Given the description of an element on the screen output the (x, y) to click on. 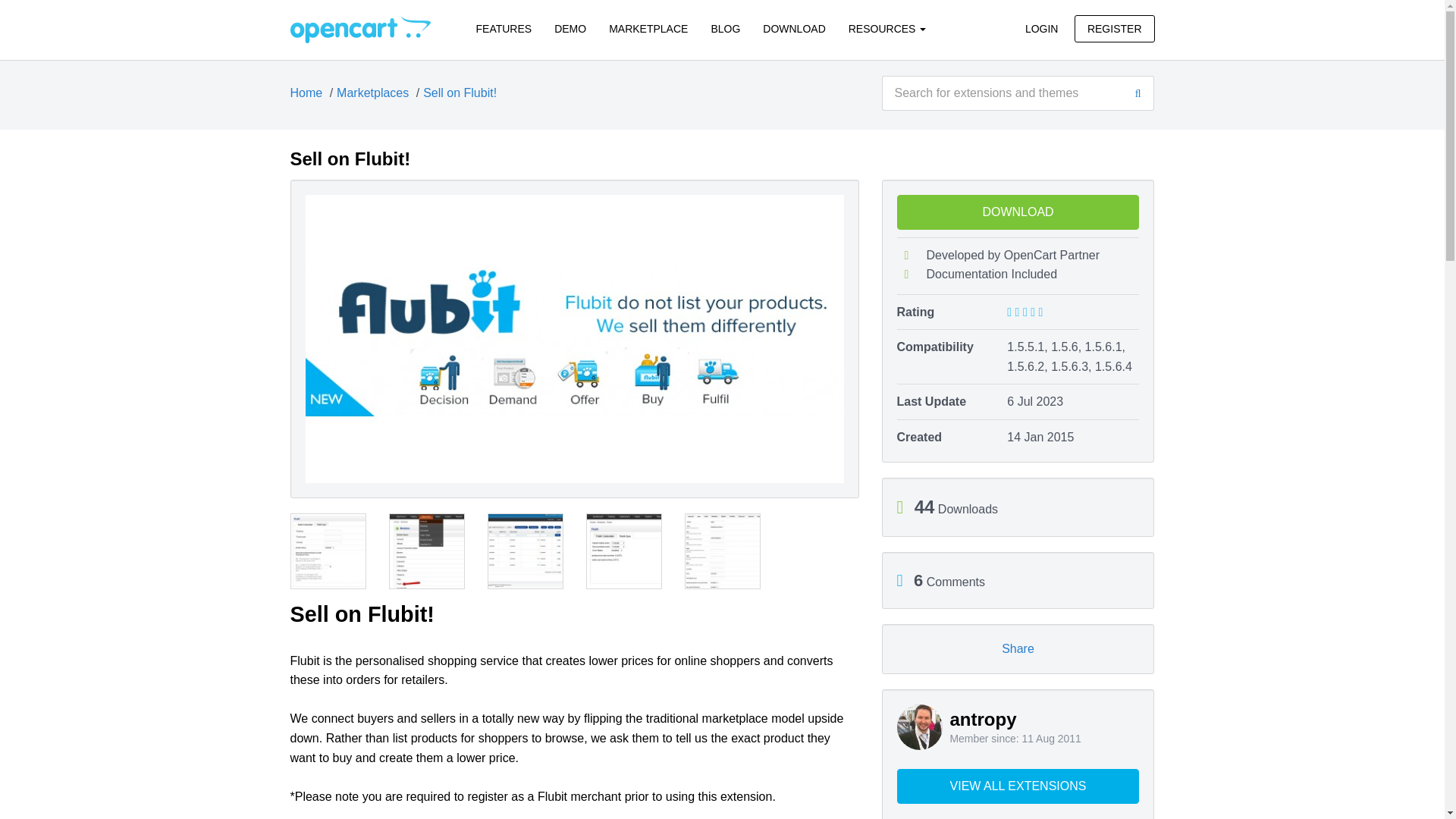
REGISTER (1114, 28)
Sell on Flubit! (459, 92)
Marketplaces (372, 92)
LOGIN (1041, 28)
DEMO (569, 28)
Home (305, 92)
RESOURCES (887, 28)
DOWNLOAD (793, 28)
BLOG (724, 28)
